Given the description of an element on the screen output the (x, y) to click on. 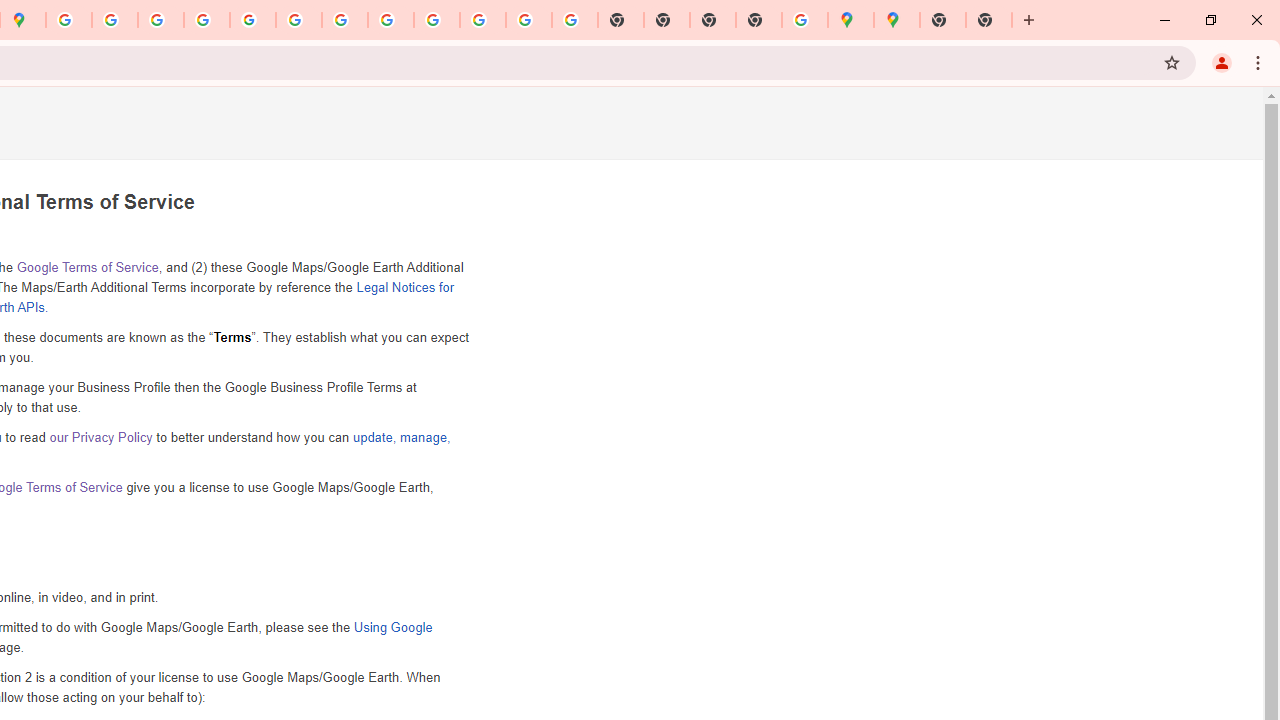
Google Maps (897, 20)
our Privacy Policy (100, 437)
Browse Chrome as a guest - Computer - Google Chrome Help (436, 20)
Privacy Help Center - Policies Help (115, 20)
Google Terms of Service (86, 267)
New Tab (759, 20)
YouTube (299, 20)
